Given the description of an element on the screen output the (x, y) to click on. 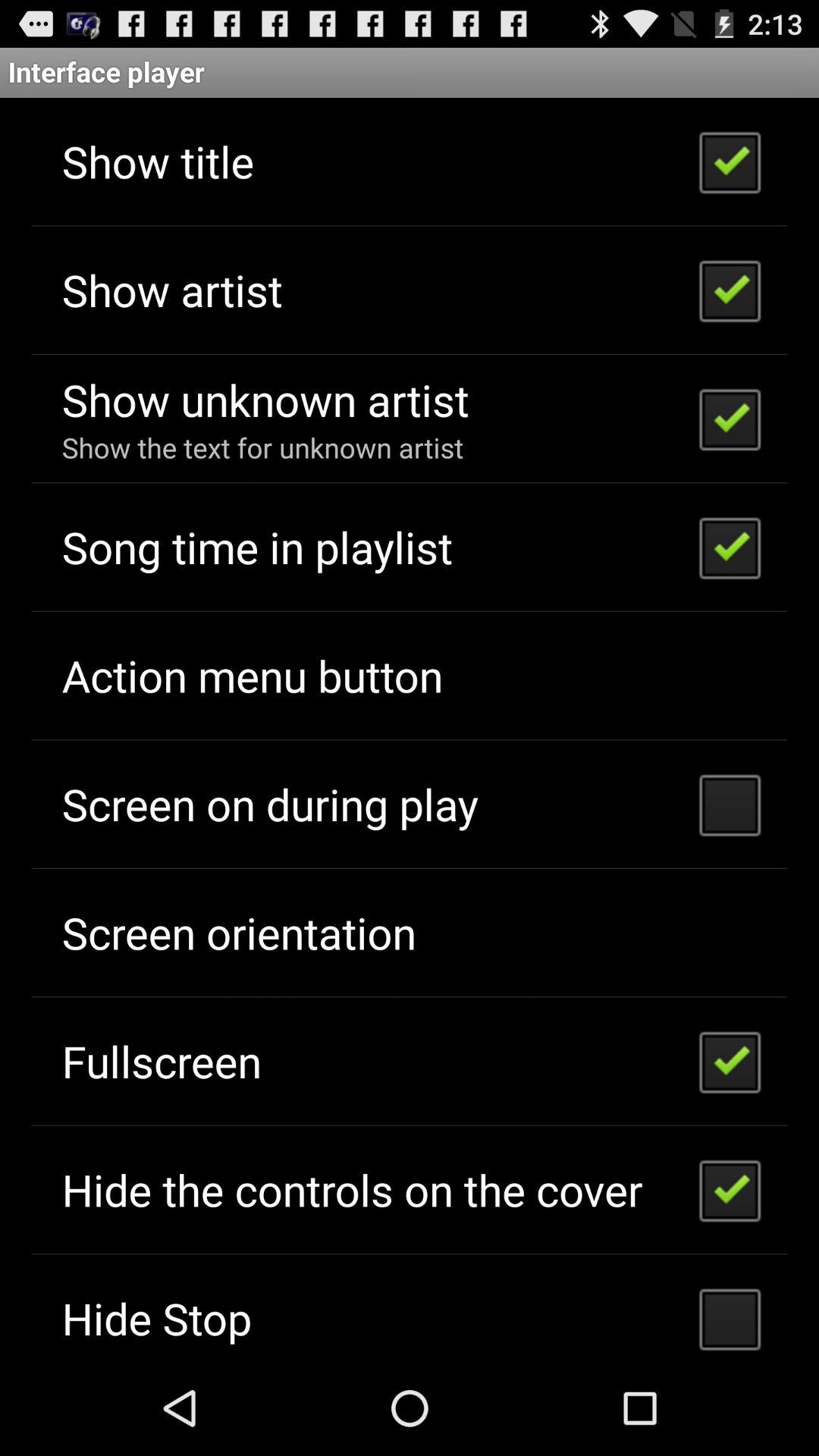
choose the hide stop icon (156, 1317)
